Given the description of an element on the screen output the (x, y) to click on. 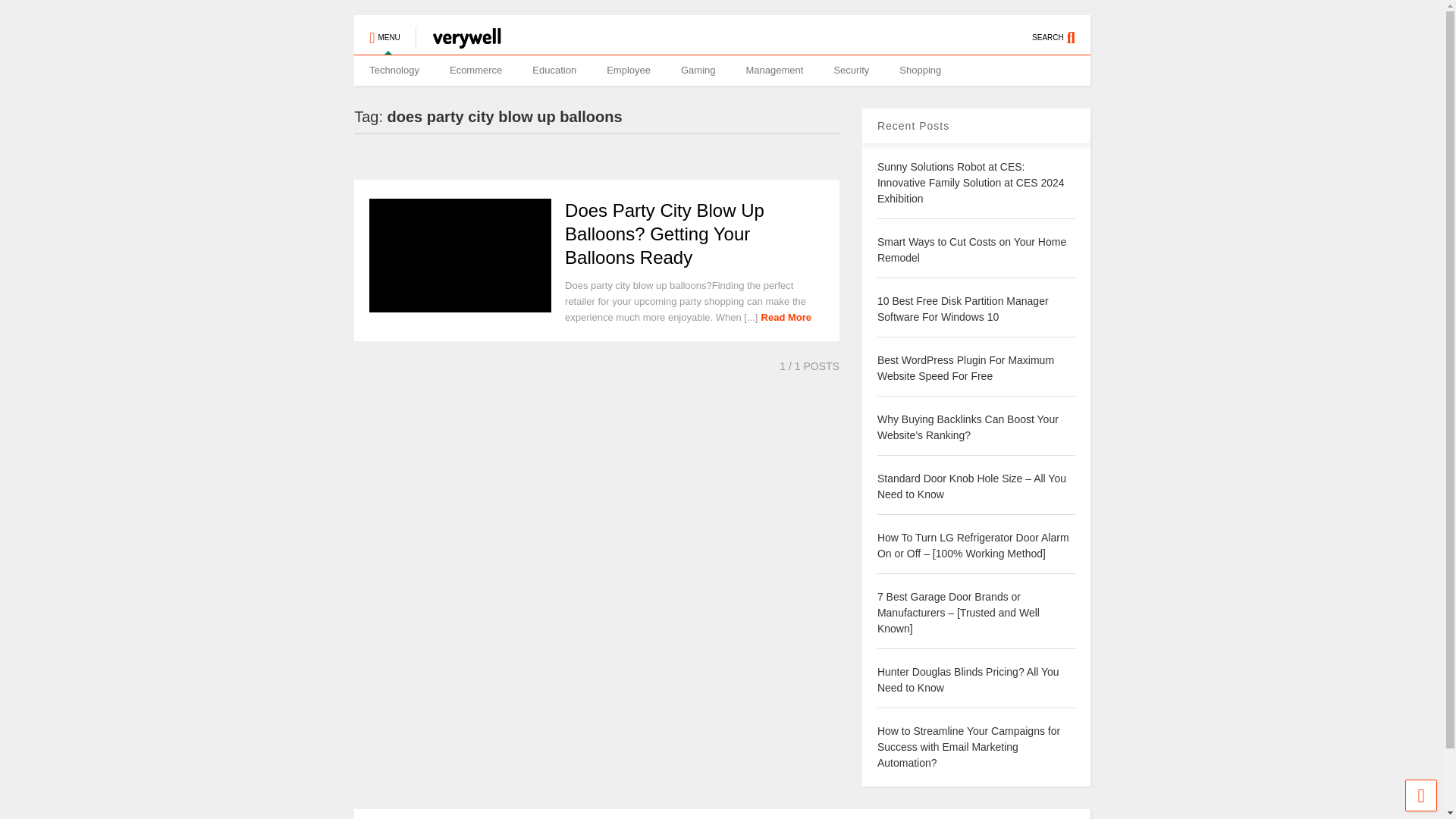
SEARCH (1061, 30)
Smart Ways to Cut Costs on Your Home Remodel (971, 249)
Hunter Douglas Blinds Pricing? All You Need to Know (968, 679)
Security (850, 70)
Ecommerce (474, 70)
10 Best Free Disk Partition Manager Software For Windows 10 (962, 308)
Management (774, 70)
Best WordPress Plugin For Maximum Website Speed For Free (965, 367)
Gaming (697, 70)
Employee (628, 70)
Recent Posts (913, 125)
Education (553, 70)
Read More (785, 317)
